Given the description of an element on the screen output the (x, y) to click on. 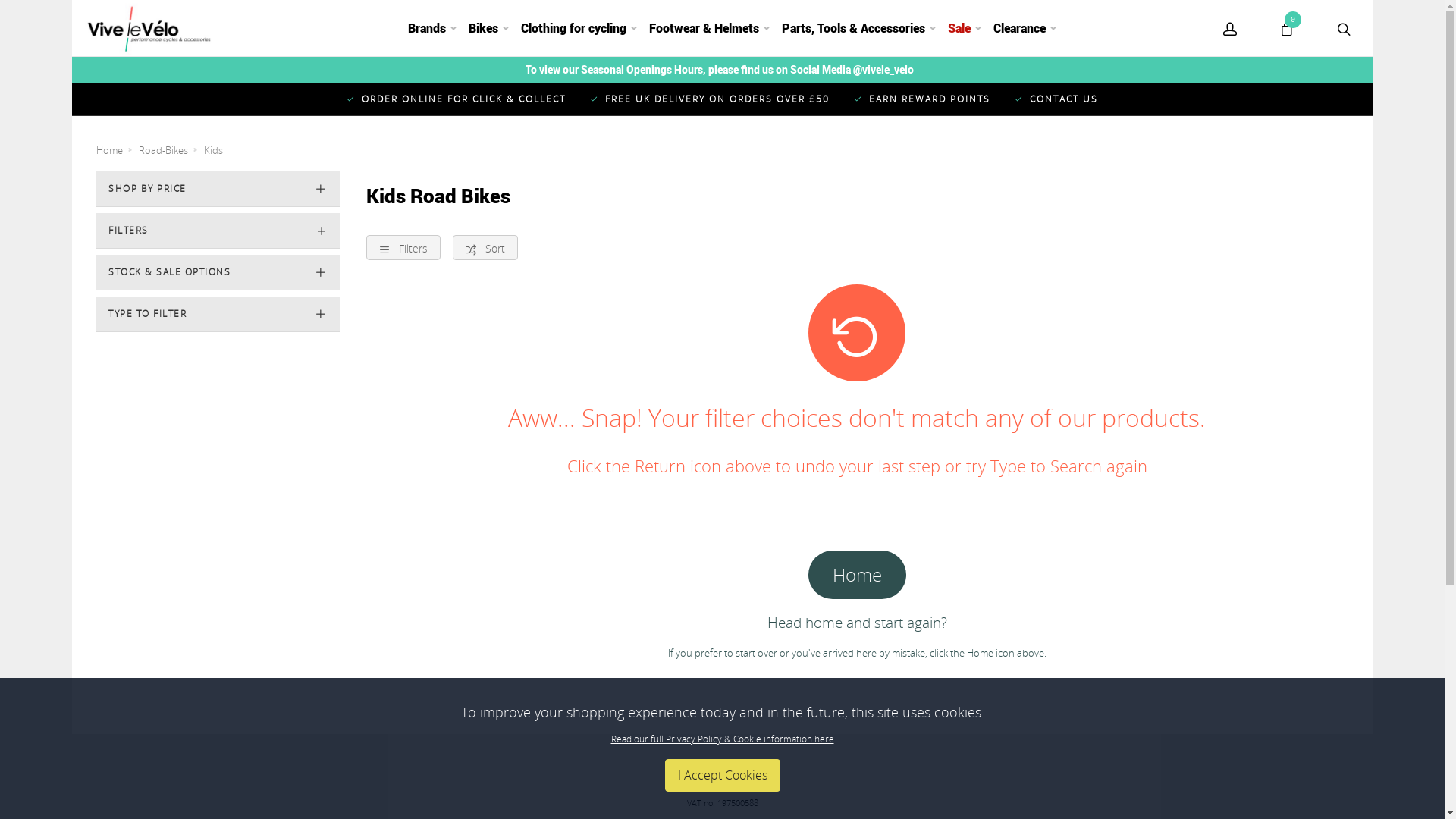
Brands Element type: text (431, 27)
Road-Bikes Element type: text (169, 149)
Sale Element type: text (964, 27)
Home Element type: text (116, 149)
EARN REWARD POINTS Element type: text (921, 99)
Filters Element type: text (403, 247)
Clearance Element type: text (1024, 27)
Footwear & Helmets Element type: text (709, 27)
CONTACT US Element type: text (1056, 99)
Bikes Element type: text (488, 27)
Read our full Privacy Policy & Cookie information here Element type: text (722, 738)
Sort Element type: text (484, 247)
Kids Element type: text (219, 149)
Parts, Tools & Accessories Element type: text (858, 27)
ORDER ONLINE FOR CLICK & COLLECT Element type: text (455, 99)
Clothing for cycling Element type: text (578, 27)
I Accept Cookies Element type: text (721, 775)
